Given the description of an element on the screen output the (x, y) to click on. 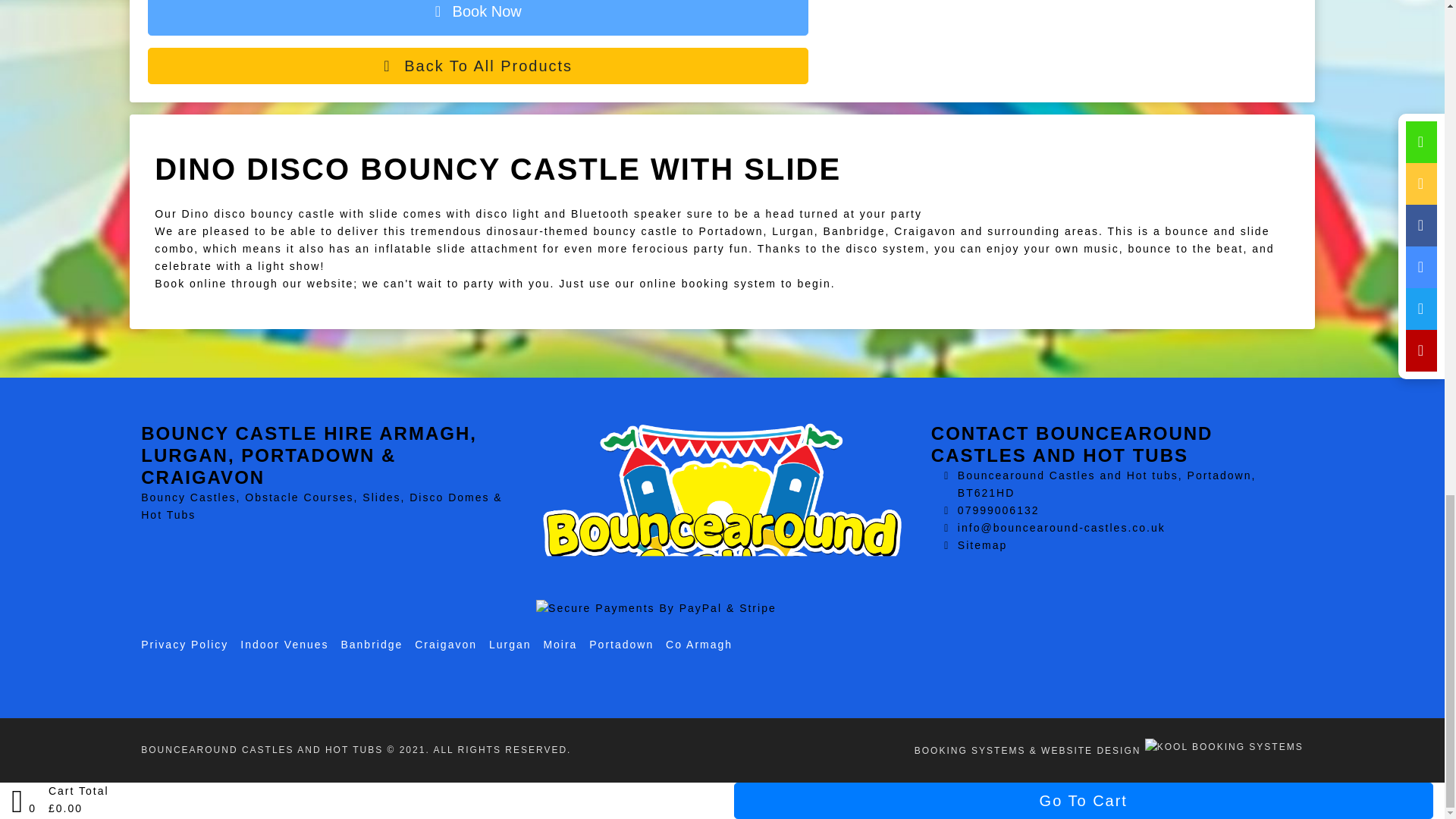
Sitemap (982, 544)
Call us today! (998, 510)
Our address (1107, 483)
Send us an email! (1062, 527)
